Given the description of an element on the screen output the (x, y) to click on. 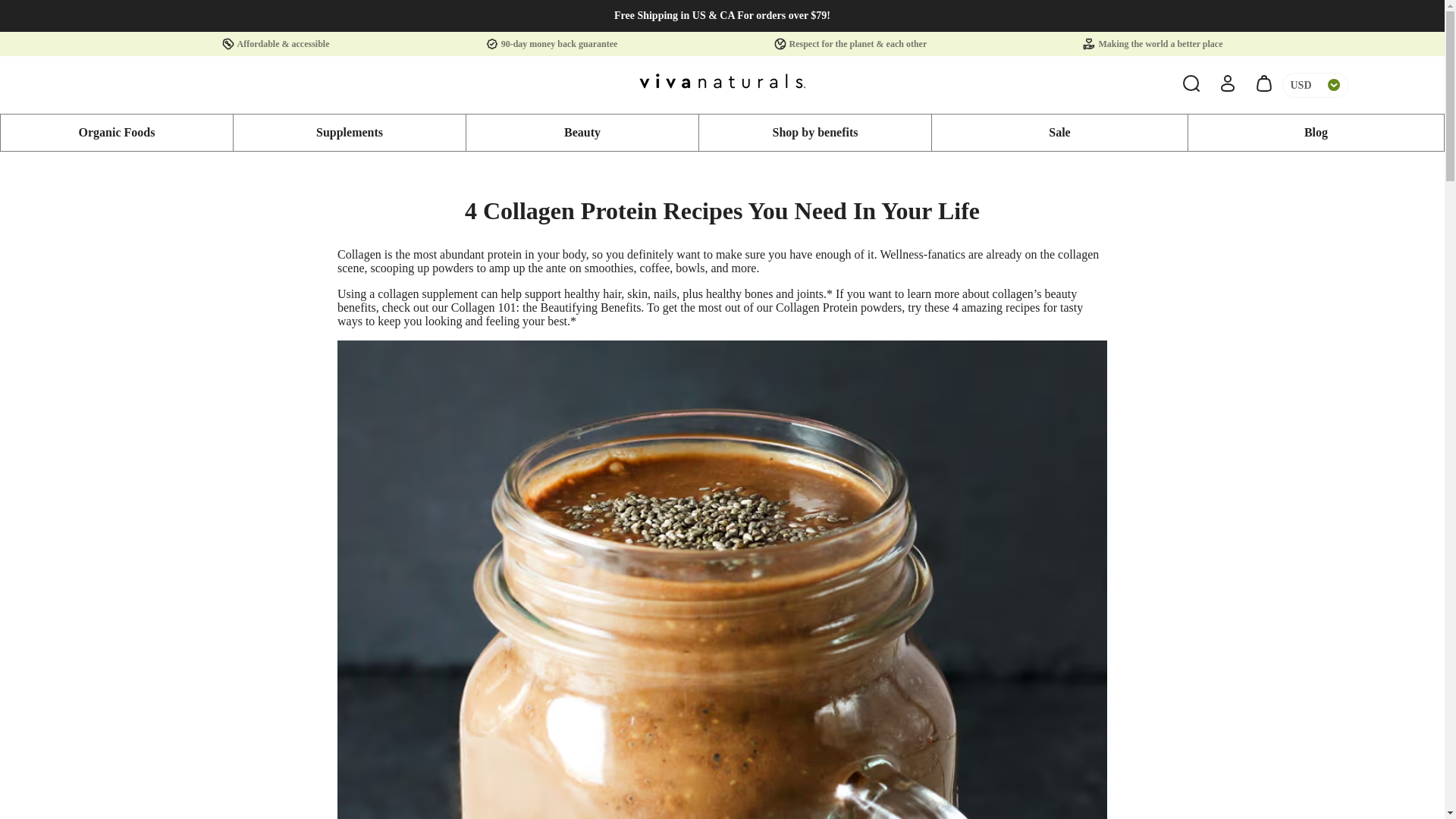
Organic Foods (116, 132)
Supplements (348, 132)
homepage (722, 84)
Beauty (581, 132)
